Given the description of an element on the screen output the (x, y) to click on. 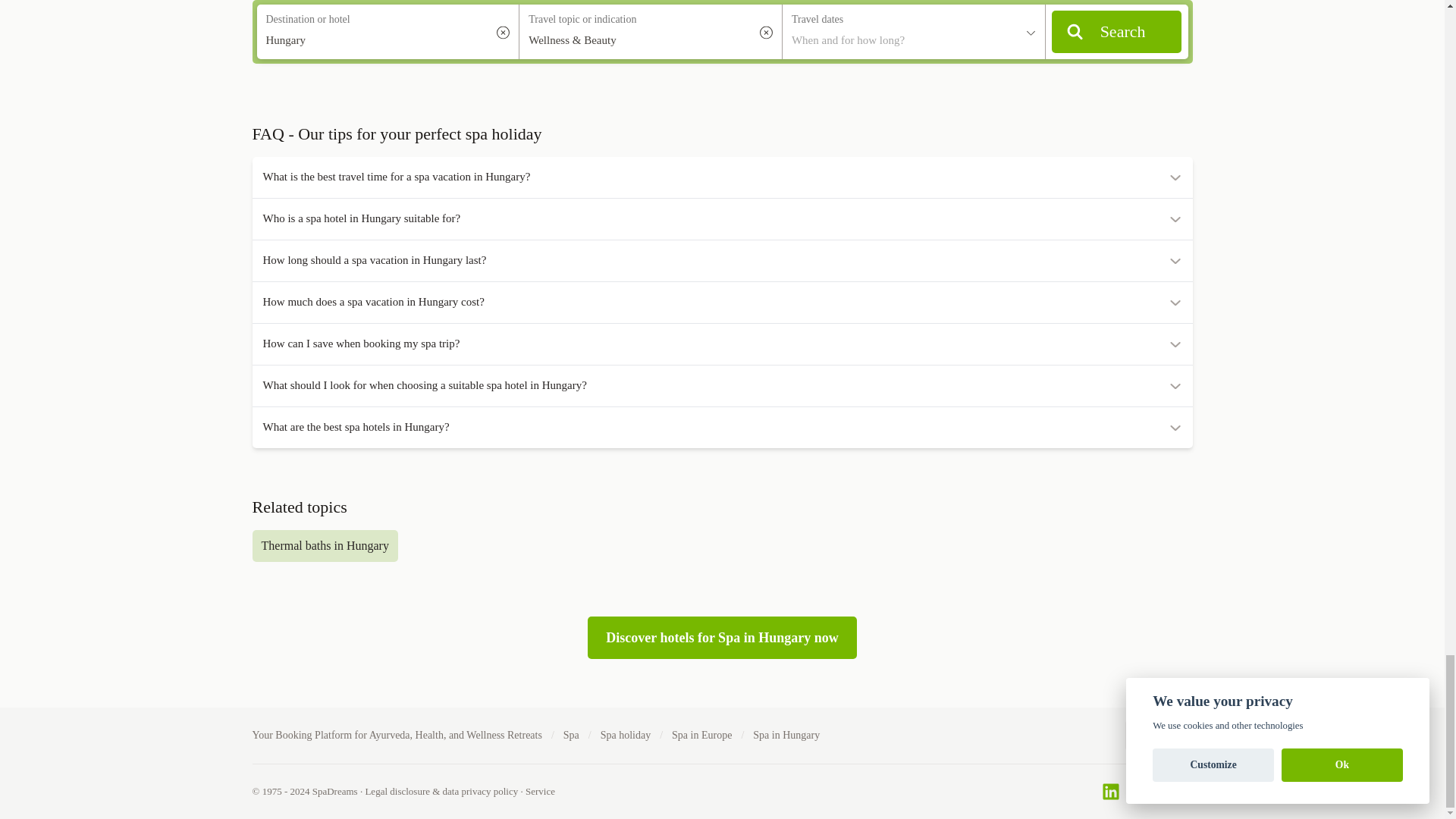
Instagram (1158, 791)
LinkedIn (1109, 791)
Facebook (1133, 791)
Pinterest (1182, 791)
